Given the description of an element on the screen output the (x, y) to click on. 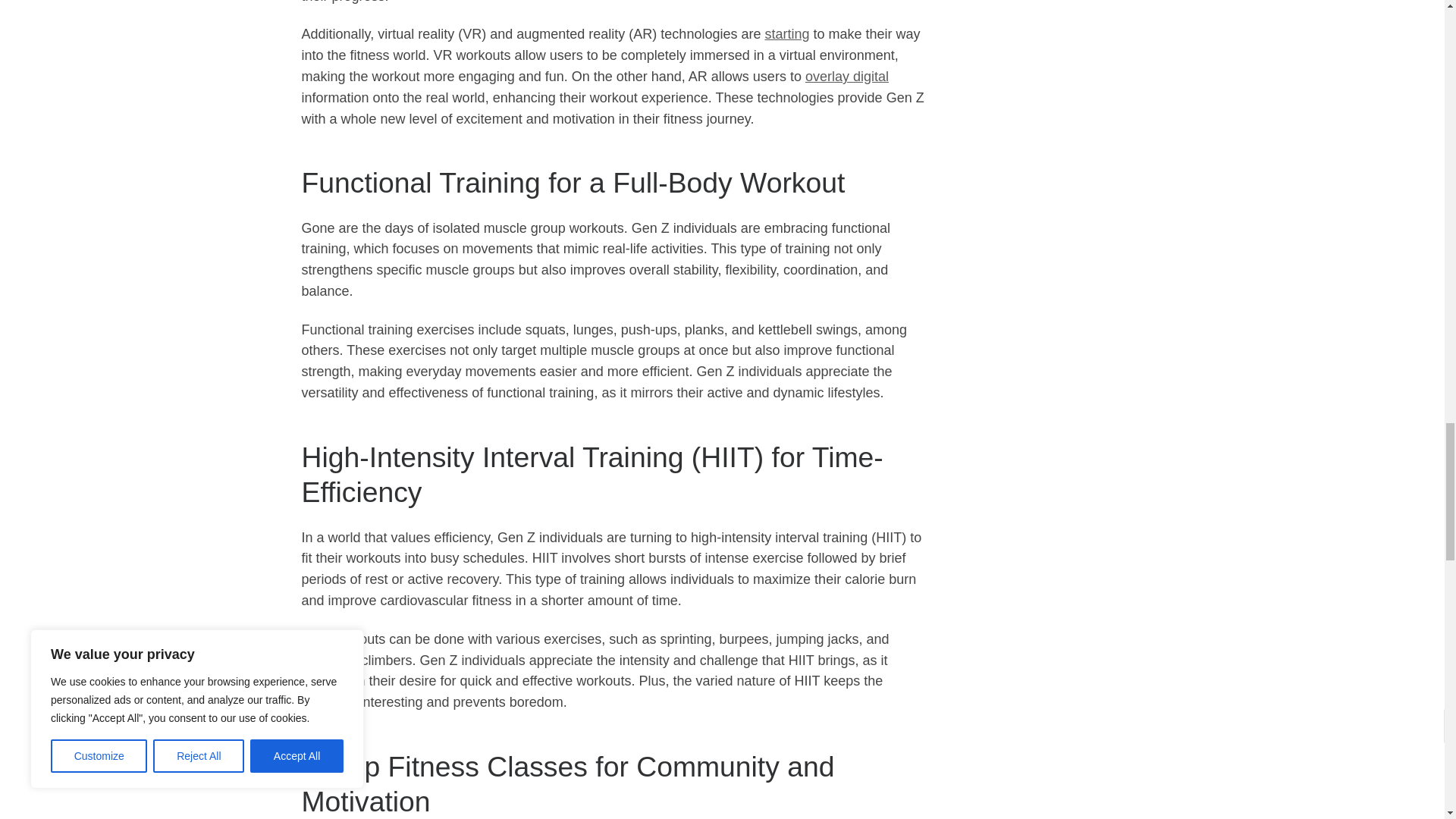
overlay digital (846, 76)
starting (786, 33)
